Given the description of an element on the screen output the (x, y) to click on. 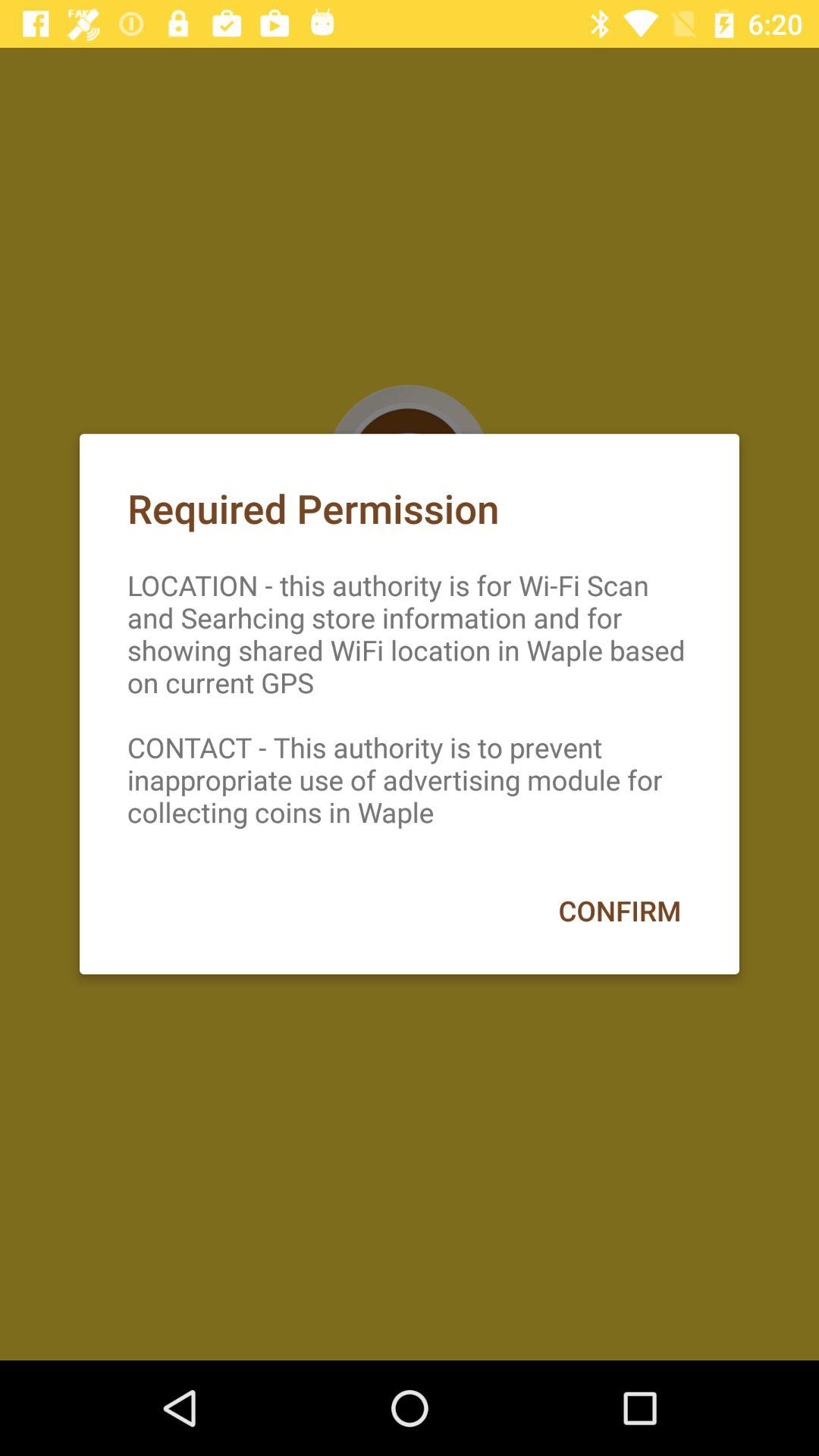
choose confirm icon (619, 910)
